Given the description of an element on the screen output the (x, y) to click on. 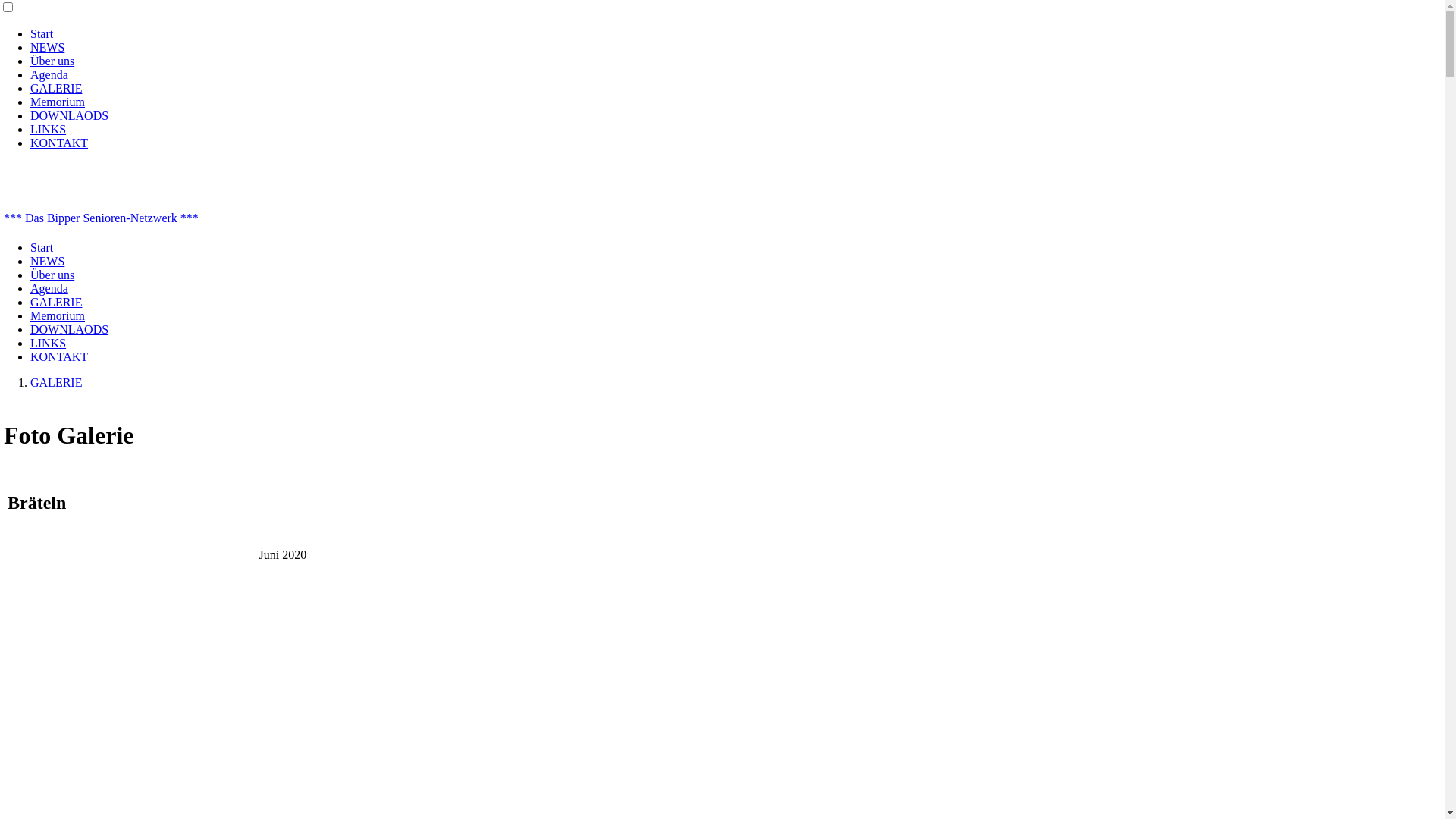
NEWS Element type: text (47, 260)
KONTAKT Element type: text (58, 356)
KONTAKT Element type: text (58, 142)
Start Element type: text (41, 247)
GALERIE Element type: text (55, 87)
Agenda Element type: text (49, 74)
Memorium Element type: text (57, 101)
NEWS Element type: text (47, 46)
*** Das Bipper Senioren-Netzwerk *** Element type: text (100, 217)
GALERIE Element type: text (55, 382)
LINKS Element type: text (47, 342)
LINKS Element type: text (47, 128)
DOWNLAODS Element type: text (69, 329)
GALERIE Element type: text (55, 301)
Start Element type: text (41, 33)
DOWNLAODS Element type: text (69, 115)
Memorium Element type: text (57, 315)
Agenda Element type: text (49, 288)
